Given the description of an element on the screen output the (x, y) to click on. 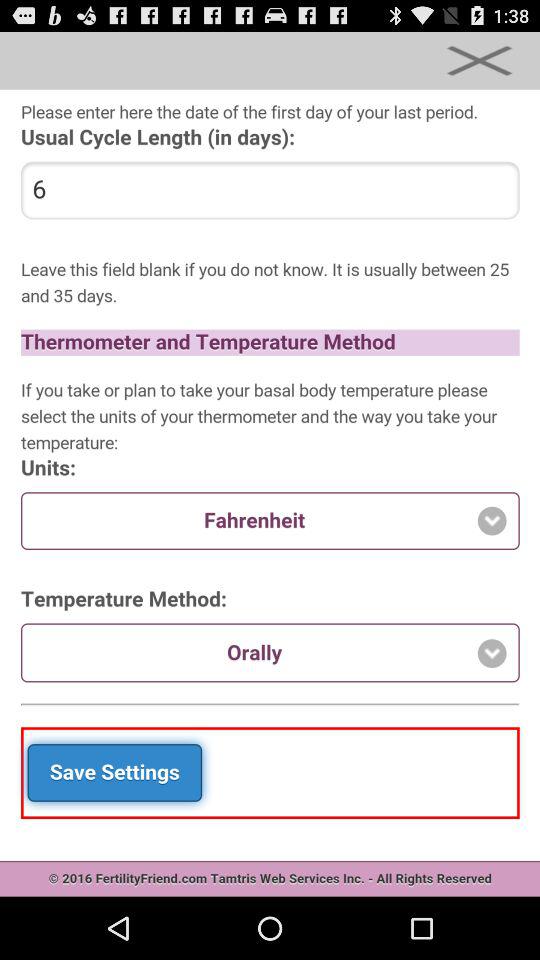
cancel option (479, 60)
